Given the description of an element on the screen output the (x, y) to click on. 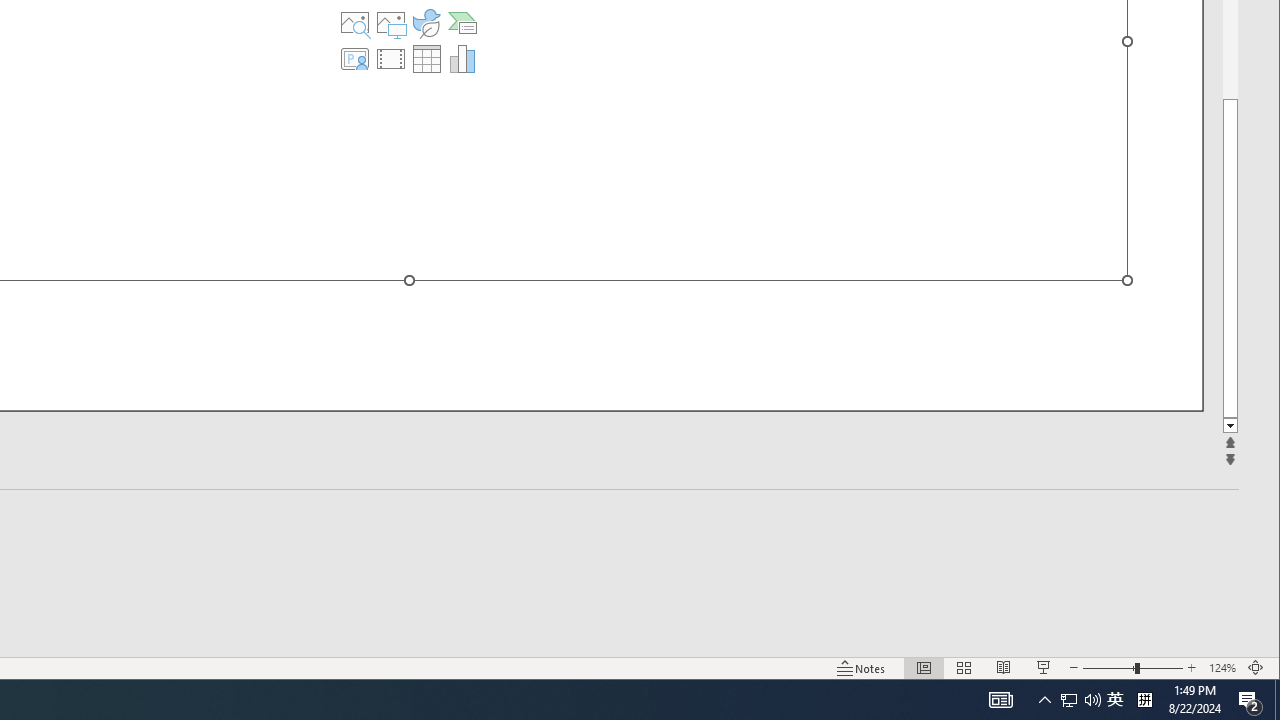
Insert Chart (462, 58)
Insert Table (426, 58)
User Promoted Notification Area (1080, 699)
Q2790: 100% (1092, 699)
Stock Images (355, 22)
Line down (1230, 426)
Pictures (391, 22)
Insert Video (391, 58)
Insert Cameo (1115, 699)
